Given the description of an element on the screen output the (x, y) to click on. 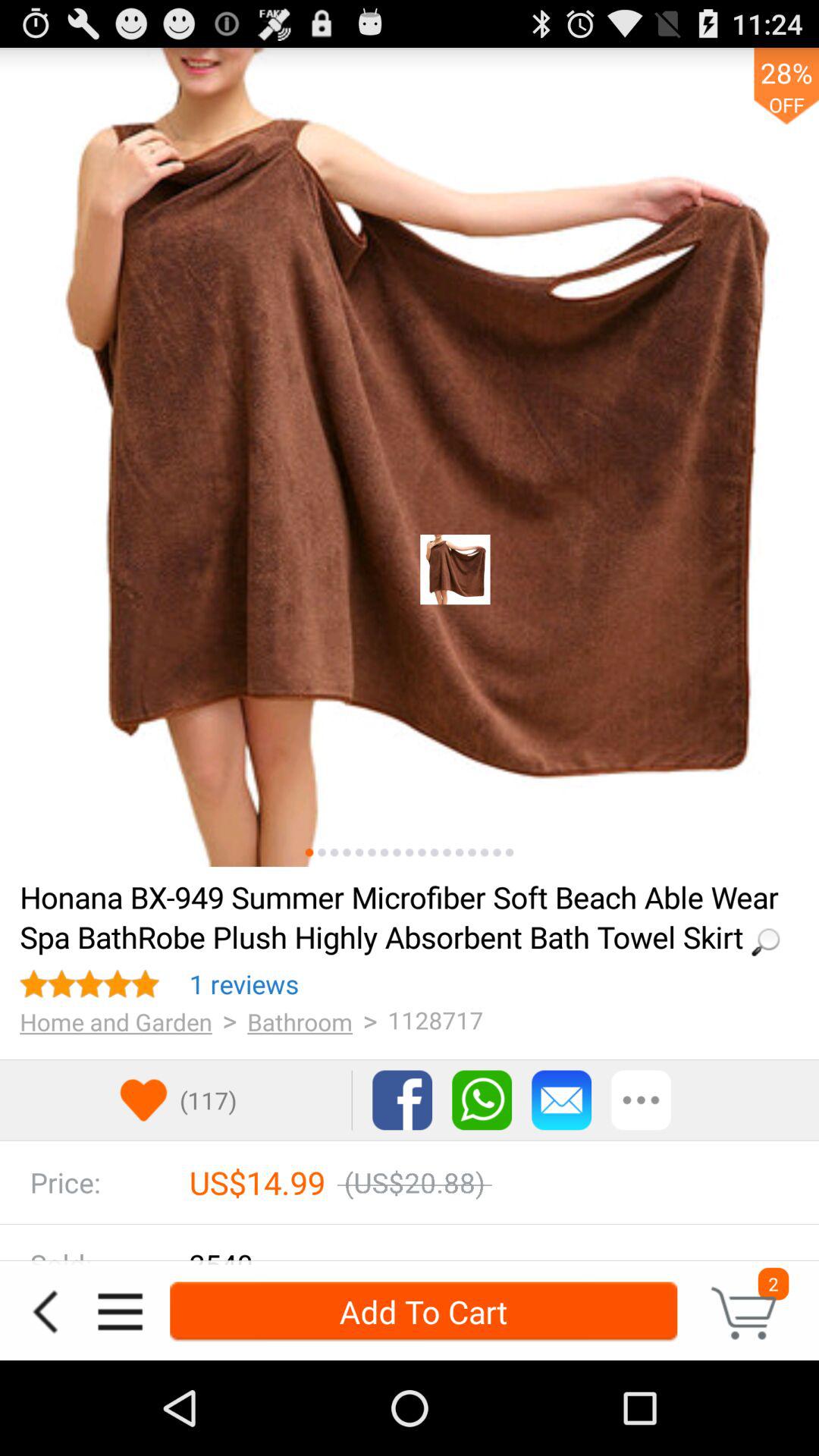
select the icon to the left of > (244, 983)
